Given the description of an element on the screen output the (x, y) to click on. 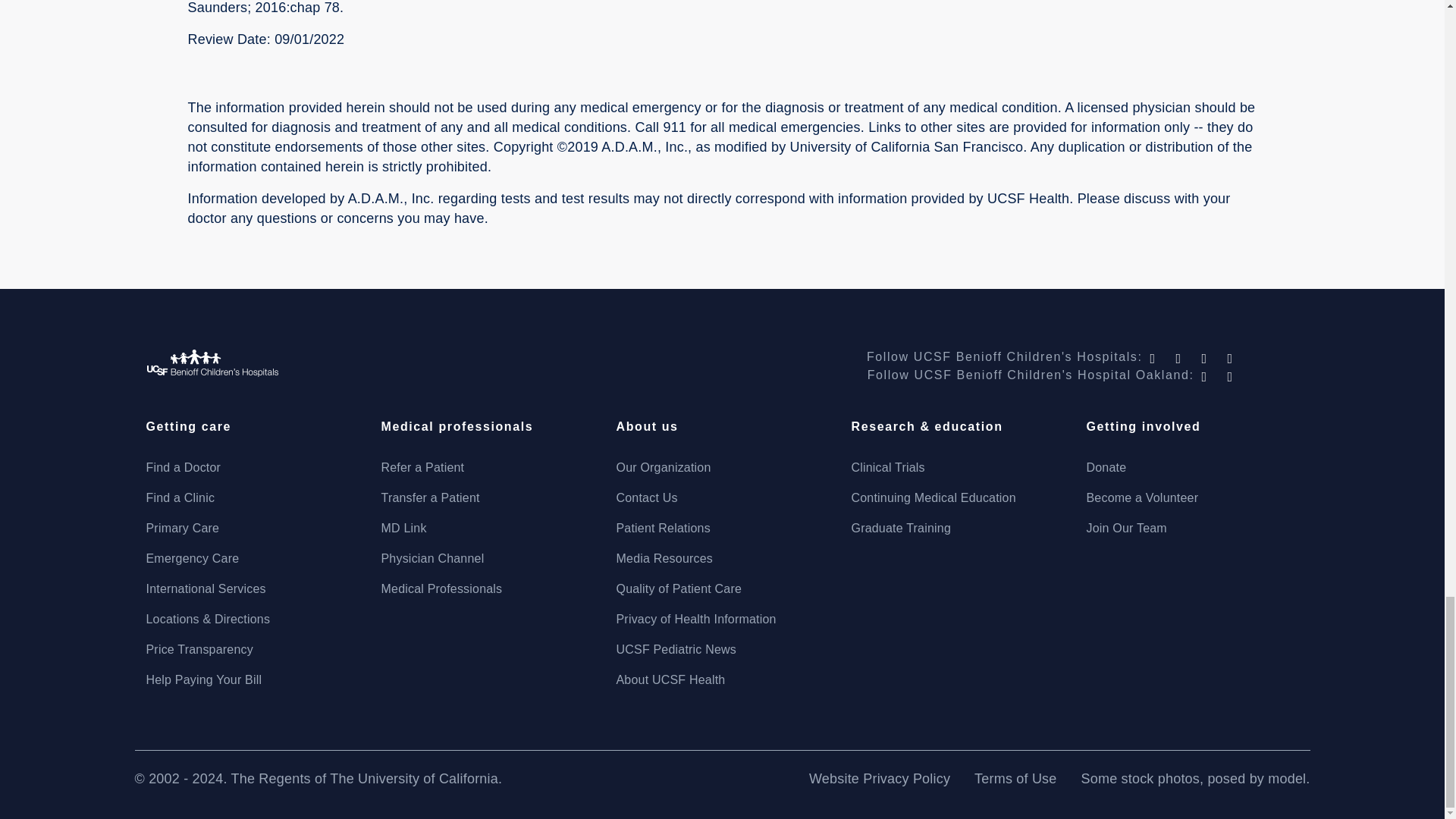
X (1180, 358)
